Given the description of an element on the screen output the (x, y) to click on. 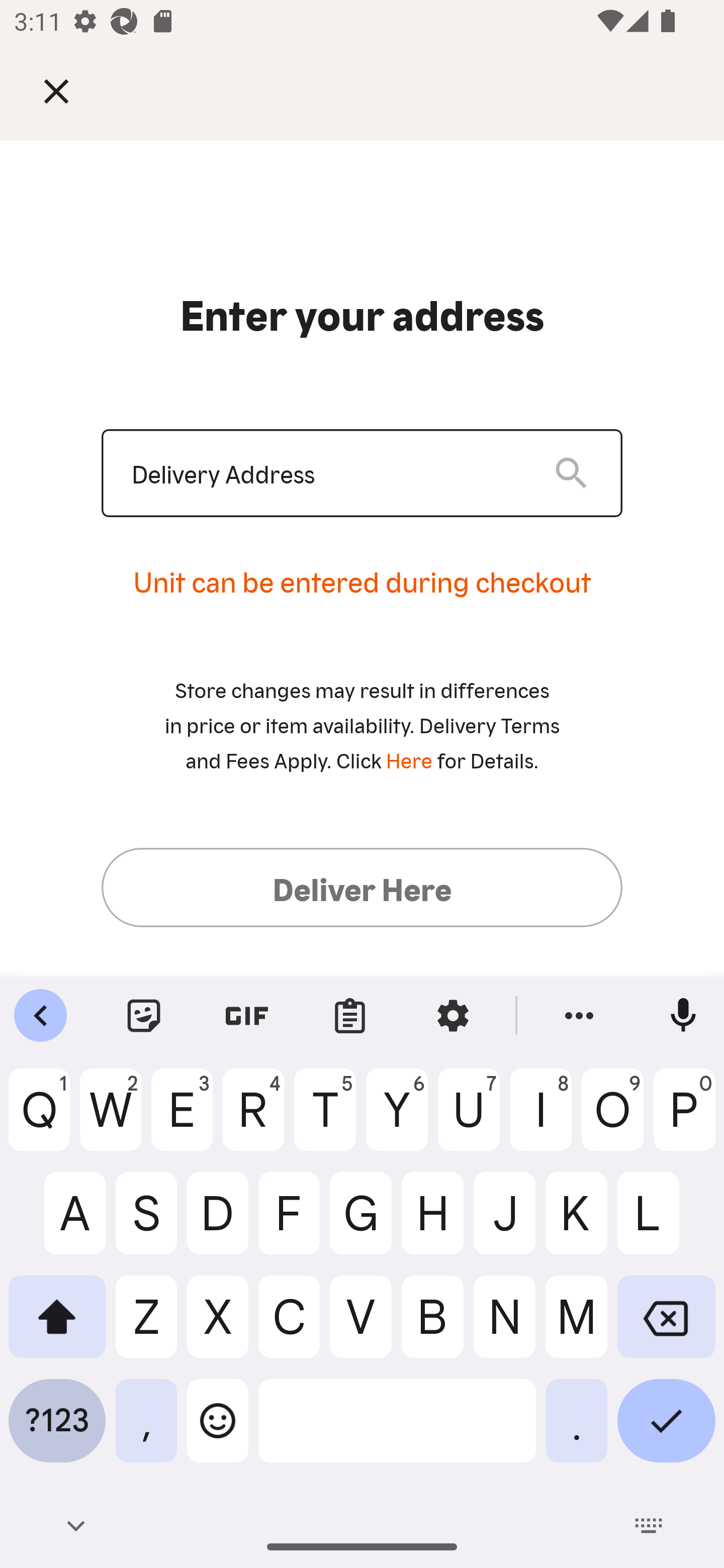
 (70, 90)
Delivery Address (326, 473)
Deliver Here (361, 887)
